Given the description of an element on the screen output the (x, y) to click on. 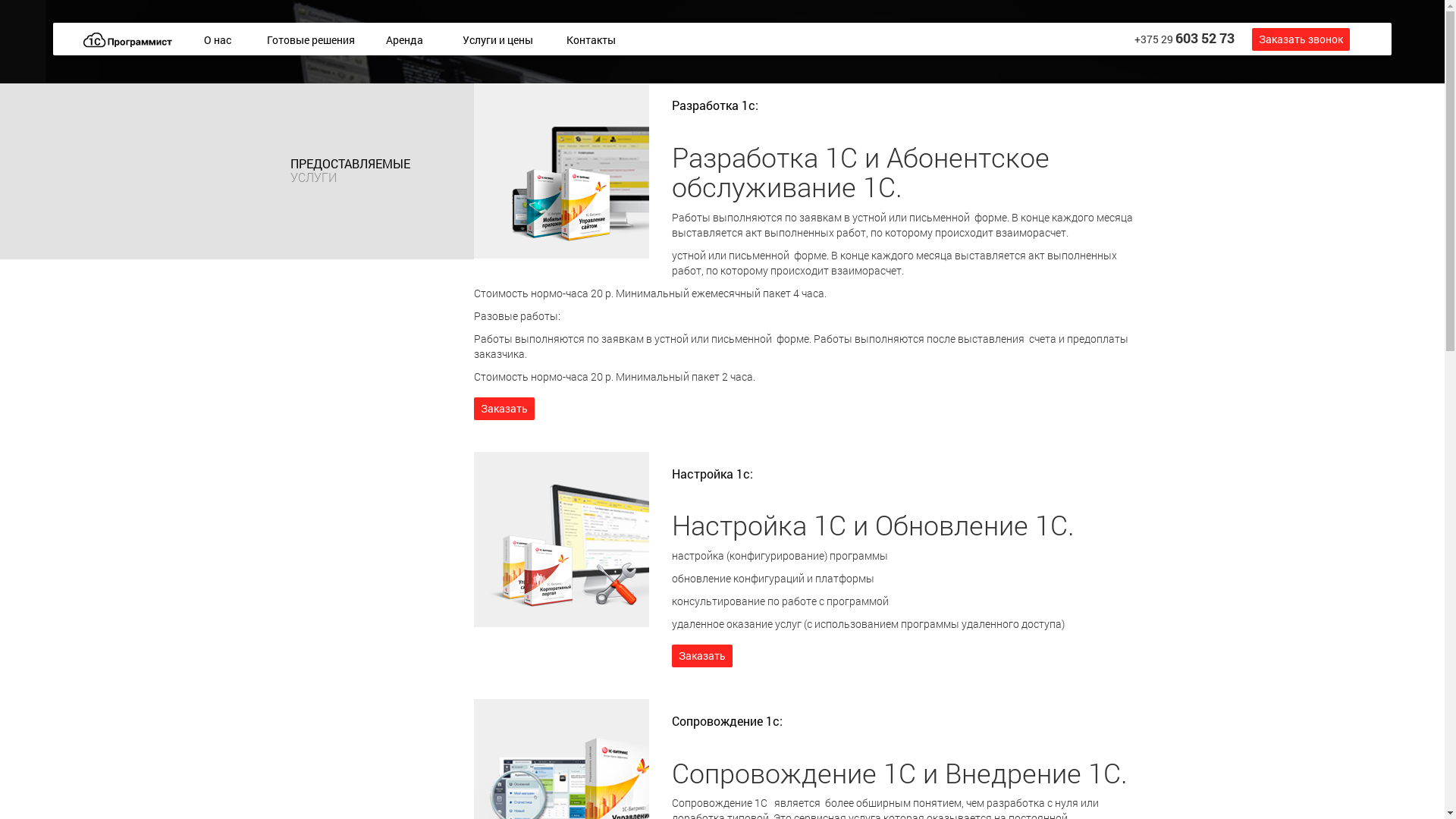
+375 29 603 52 73 Element type: text (1184, 38)
